Given the description of an element on the screen output the (x, y) to click on. 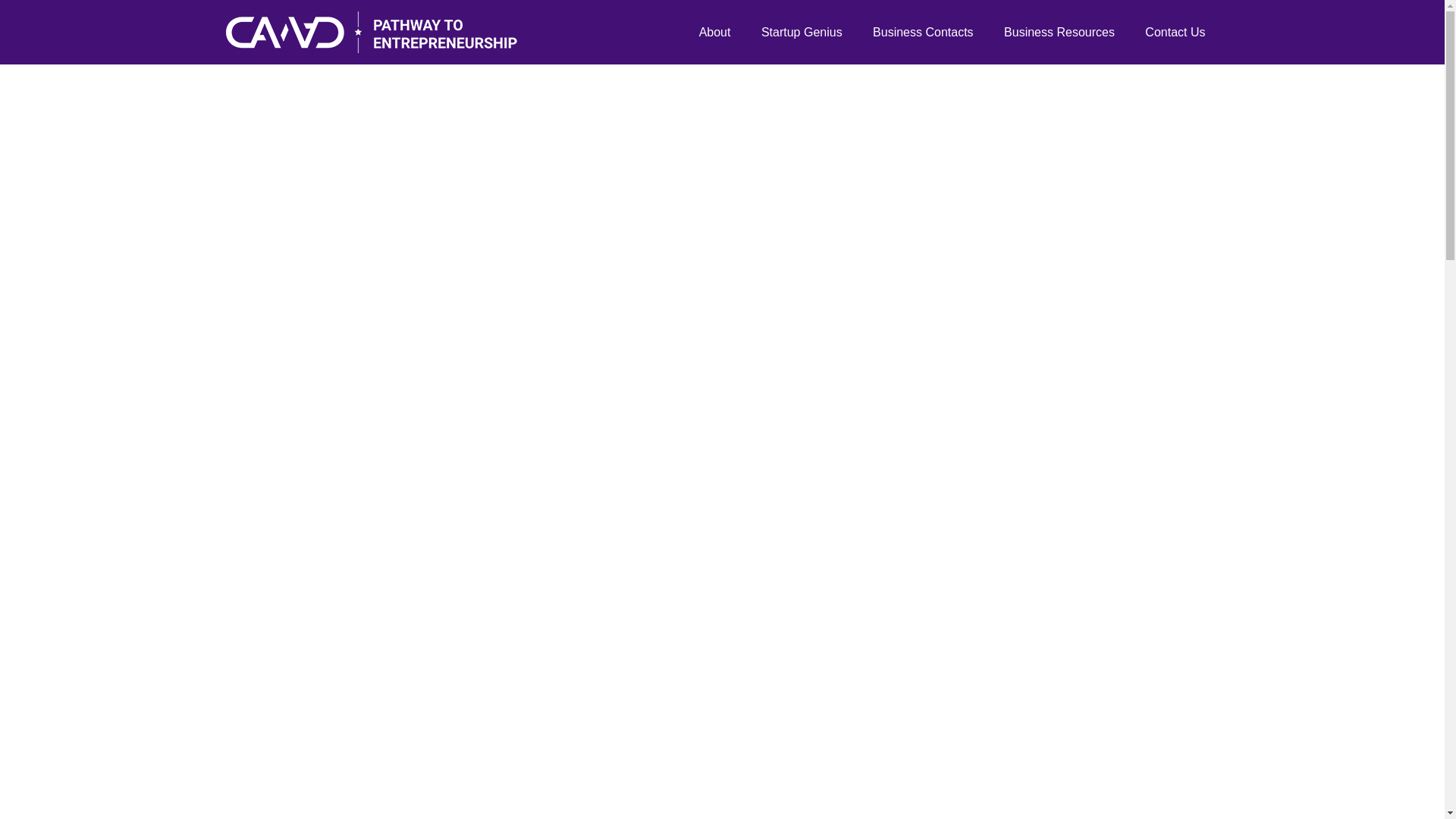
About (714, 32)
Startup Genius (802, 32)
logo (370, 32)
Business Contacts (923, 32)
Contact Us (1174, 32)
Business Resources (1059, 32)
